Given the description of an element on the screen output the (x, y) to click on. 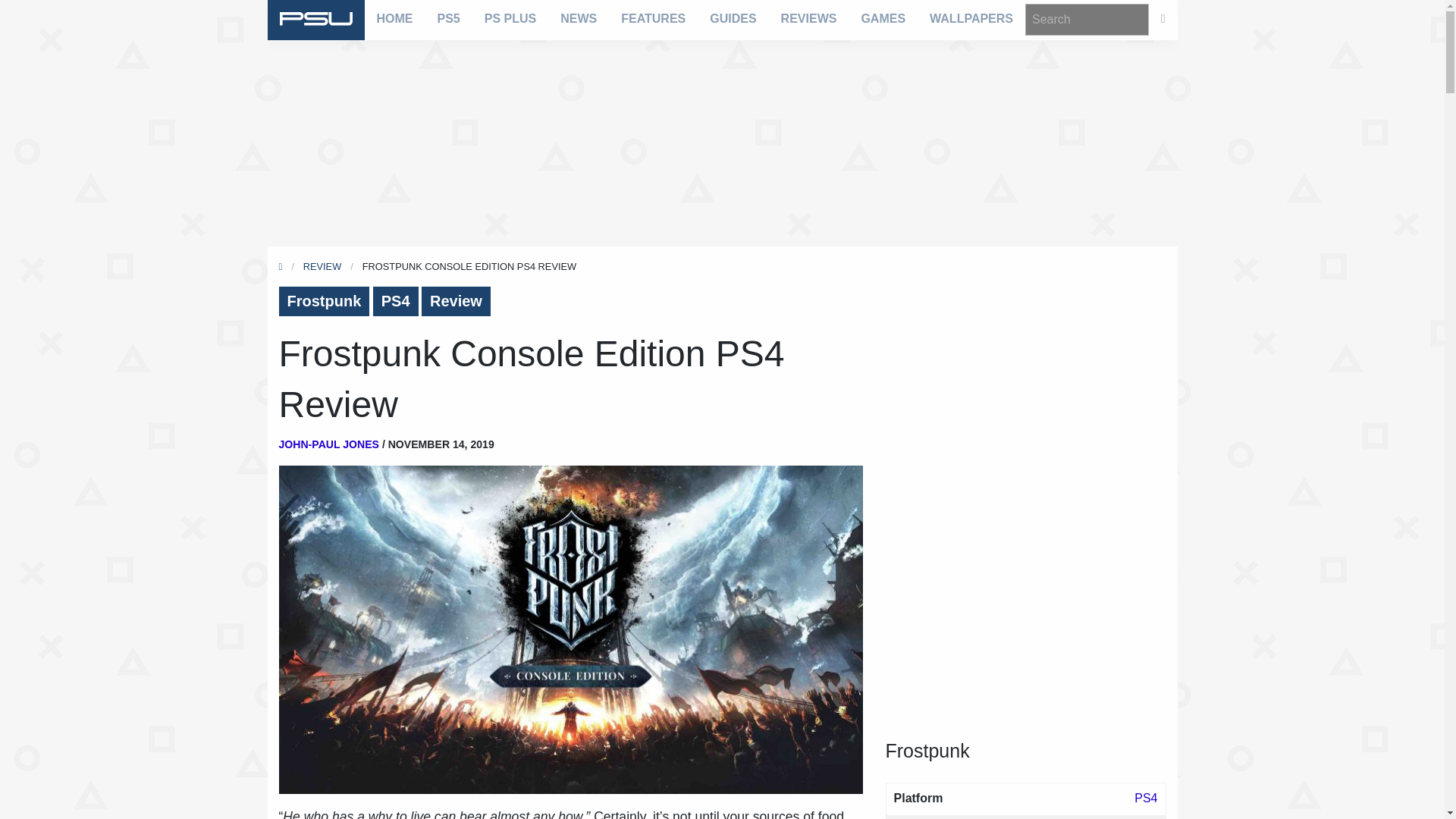
PS PLUS (509, 18)
FEATURES (652, 18)
REVIEWS (808, 18)
GAMES (882, 18)
GUIDES (732, 18)
Review (456, 301)
REVIEW (321, 266)
WALLPAPERS (971, 18)
NEWS (578, 18)
PS5 (448, 18)
HOME (394, 18)
Frostpunk (324, 301)
PS4 (395, 301)
JOHN-PAUL JONES (328, 444)
